Given the description of an element on the screen output the (x, y) to click on. 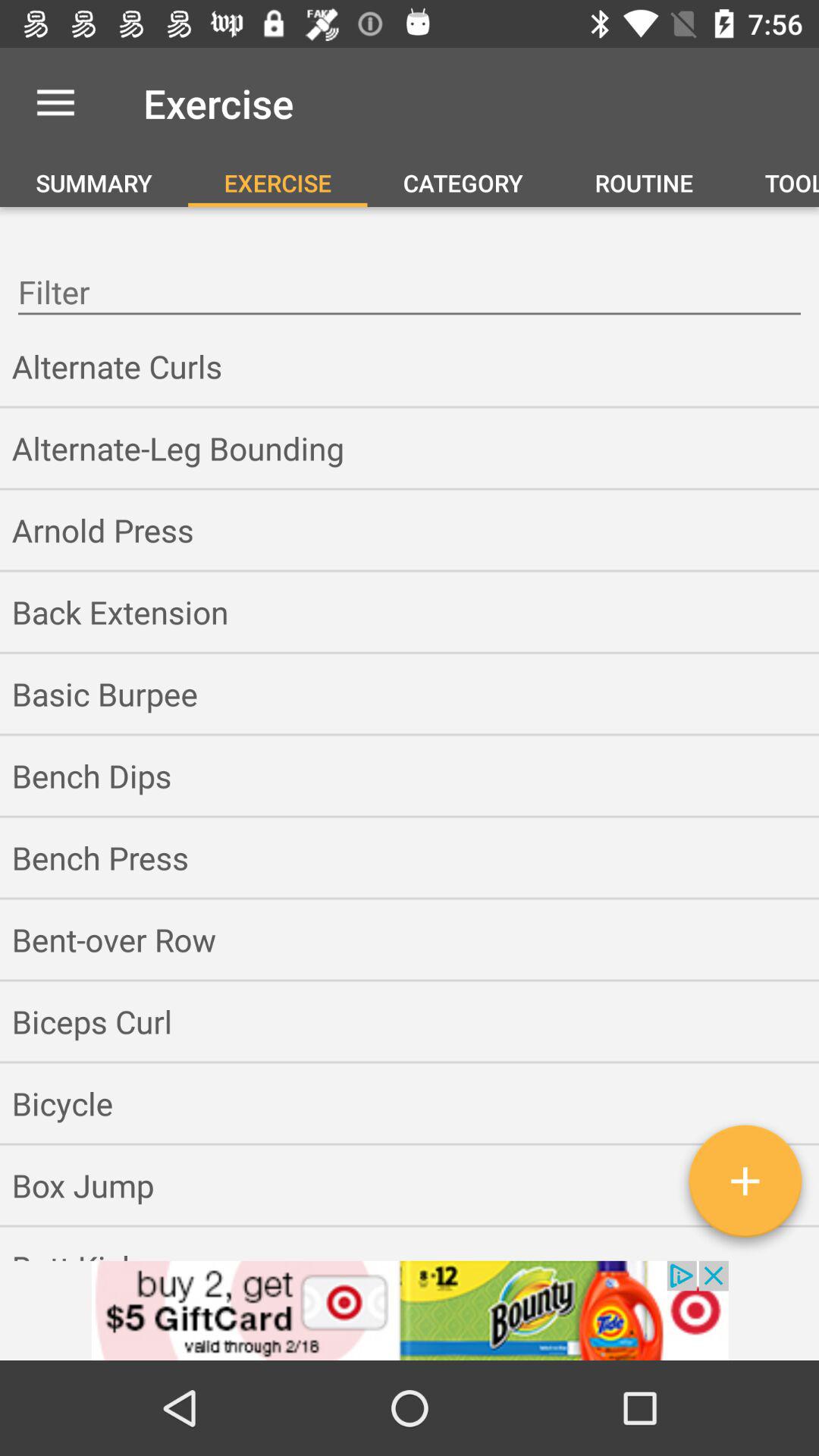
add banner (409, 1310)
